Given the description of an element on the screen output the (x, y) to click on. 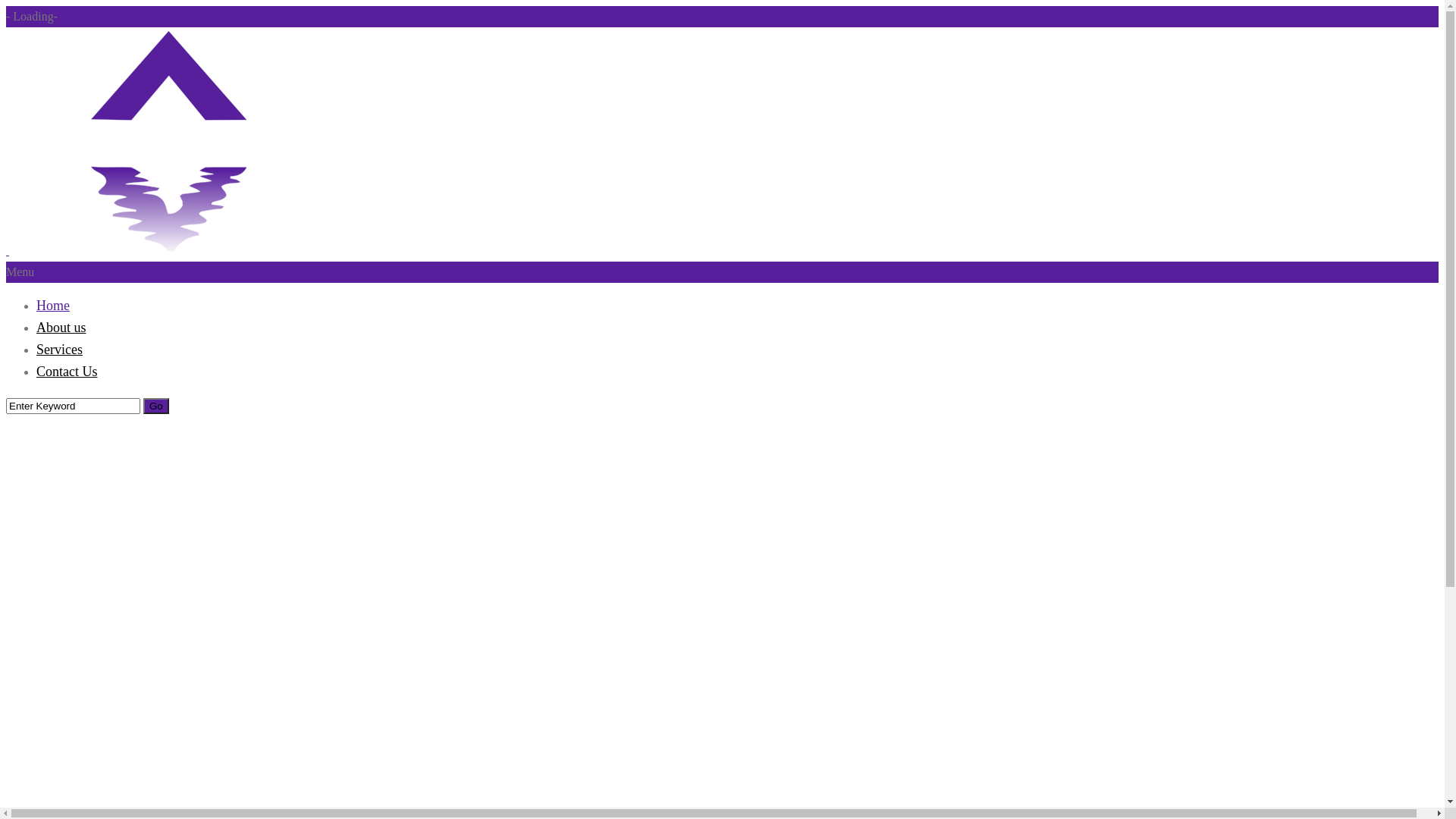
Contact Us Element type: text (66, 371)
Go Element type: text (156, 406)
About us Element type: text (61, 327)
Home Element type: text (52, 305)
Services Element type: text (59, 349)
3M Consultancy Element type: hover (168, 140)
